Given the description of an element on the screen output the (x, y) to click on. 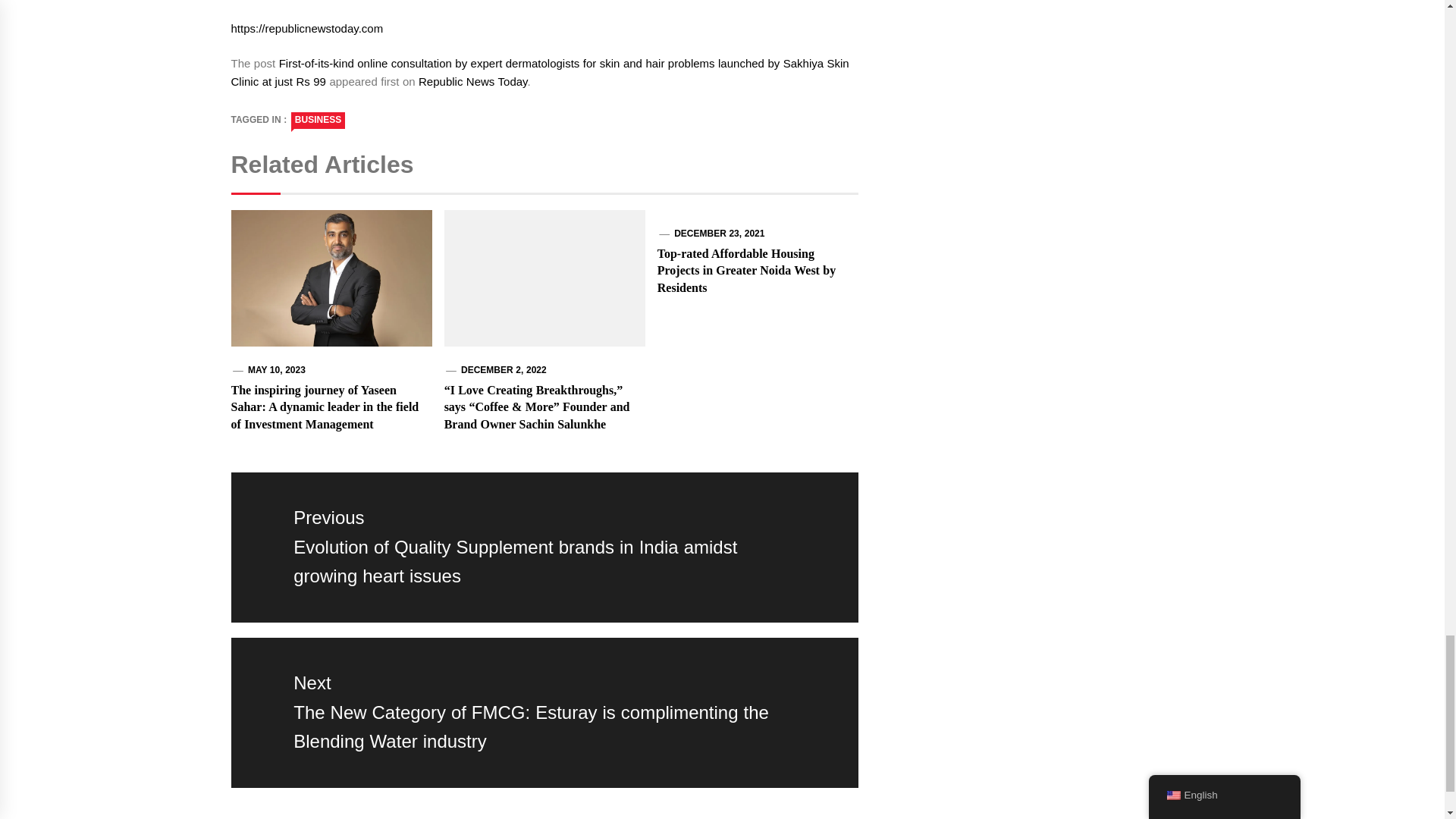
Republic News Today (473, 81)
DECEMBER 2, 2022 (504, 369)
BUSINESS (318, 120)
DECEMBER 23, 2021 (719, 233)
MAY 10, 2023 (276, 369)
